Given the description of an element on the screen output the (x, y) to click on. 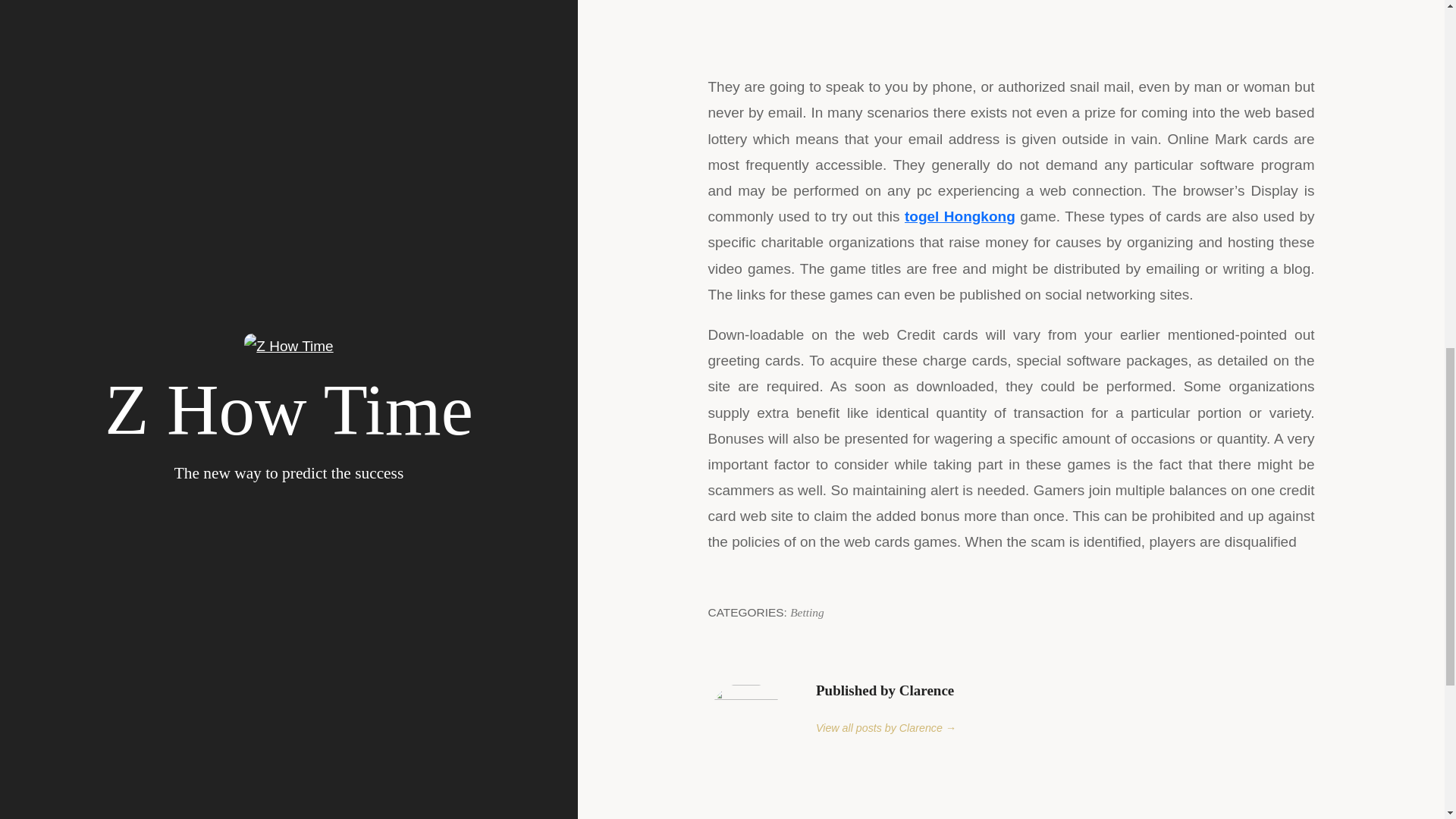
togel Hongkong (959, 216)
